Given the description of an element on the screen output the (x, y) to click on. 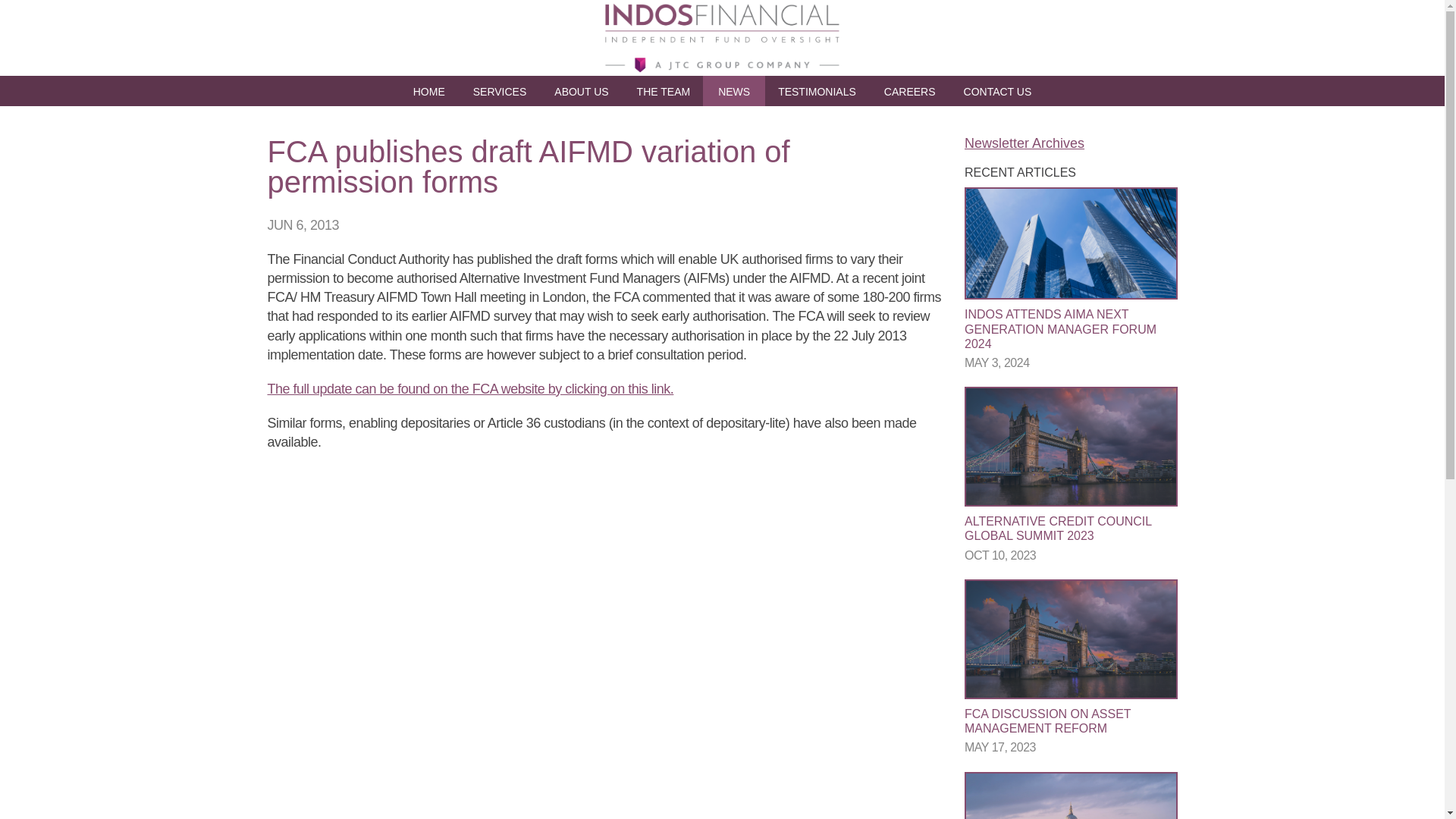
ABOUT US (580, 91)
INDOS ATTENDS AIMA NEXT GENERATION MANAGER FORUM 2024 (1059, 328)
TESTIMONIALS (816, 91)
SERVICES (499, 91)
SKIP TO CONTENT (784, 91)
CAREERS (909, 91)
NEWS (734, 91)
Newsletter Archives (1023, 142)
FCA DISCUSSION ON ASSET MANAGEMENT REFORM (1047, 720)
Skip to content (784, 91)
CONTACT US (997, 91)
ALTERNATIVE CREDIT COUNCIL GLOBAL SUMMIT 2023 (1057, 528)
HOME (428, 91)
THE TEAM (663, 91)
